Given the description of an element on the screen output the (x, y) to click on. 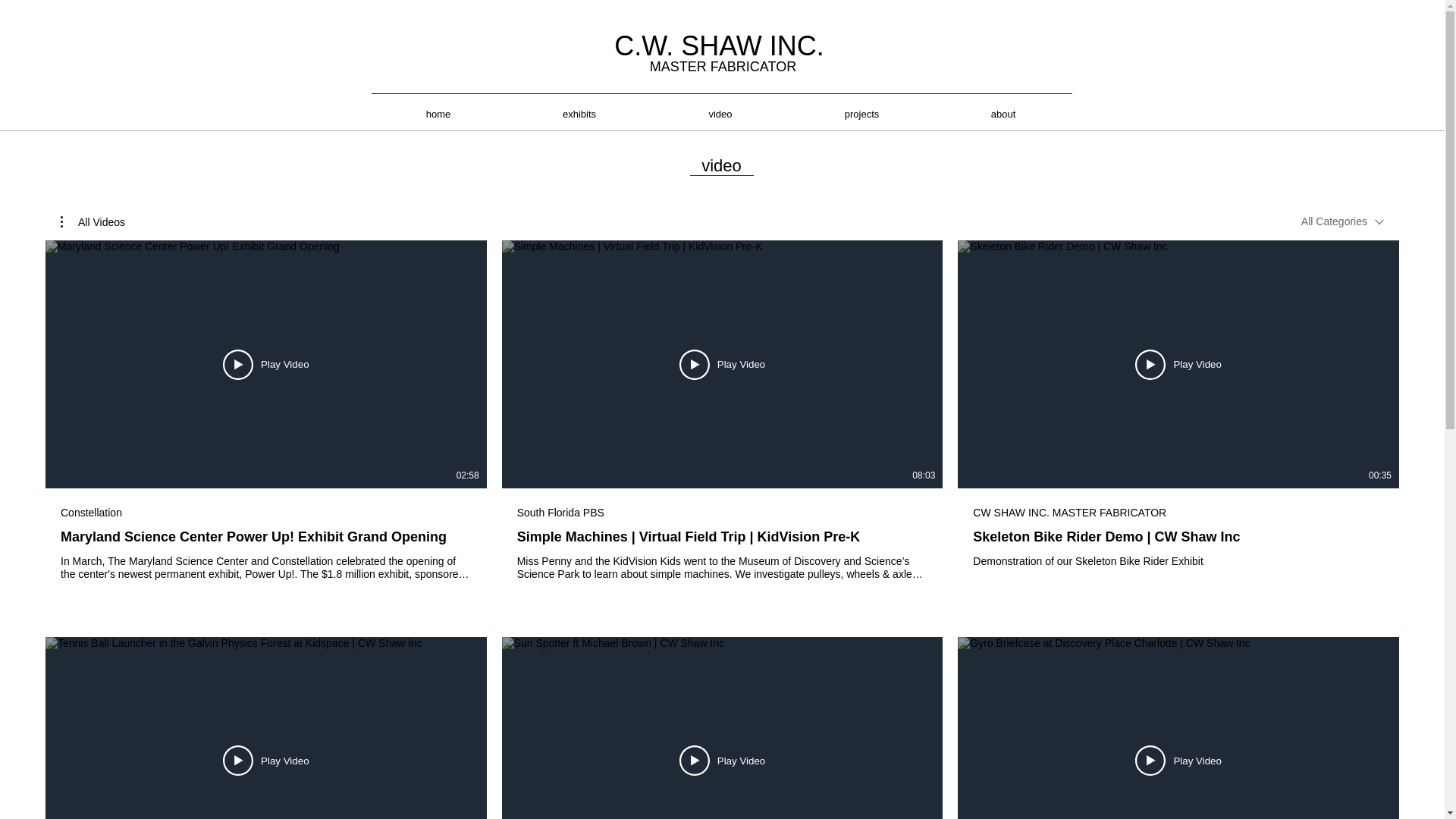
Play Video (265, 363)
Play Video (1178, 760)
Play Video (1178, 363)
Play Video (265, 760)
Maryland Science Center Power Up! Exhibit Grand Opening (266, 537)
Play Video (722, 760)
home (437, 114)
exhibits (579, 114)
video (719, 114)
projects (862, 114)
